Given the description of an element on the screen output the (x, y) to click on. 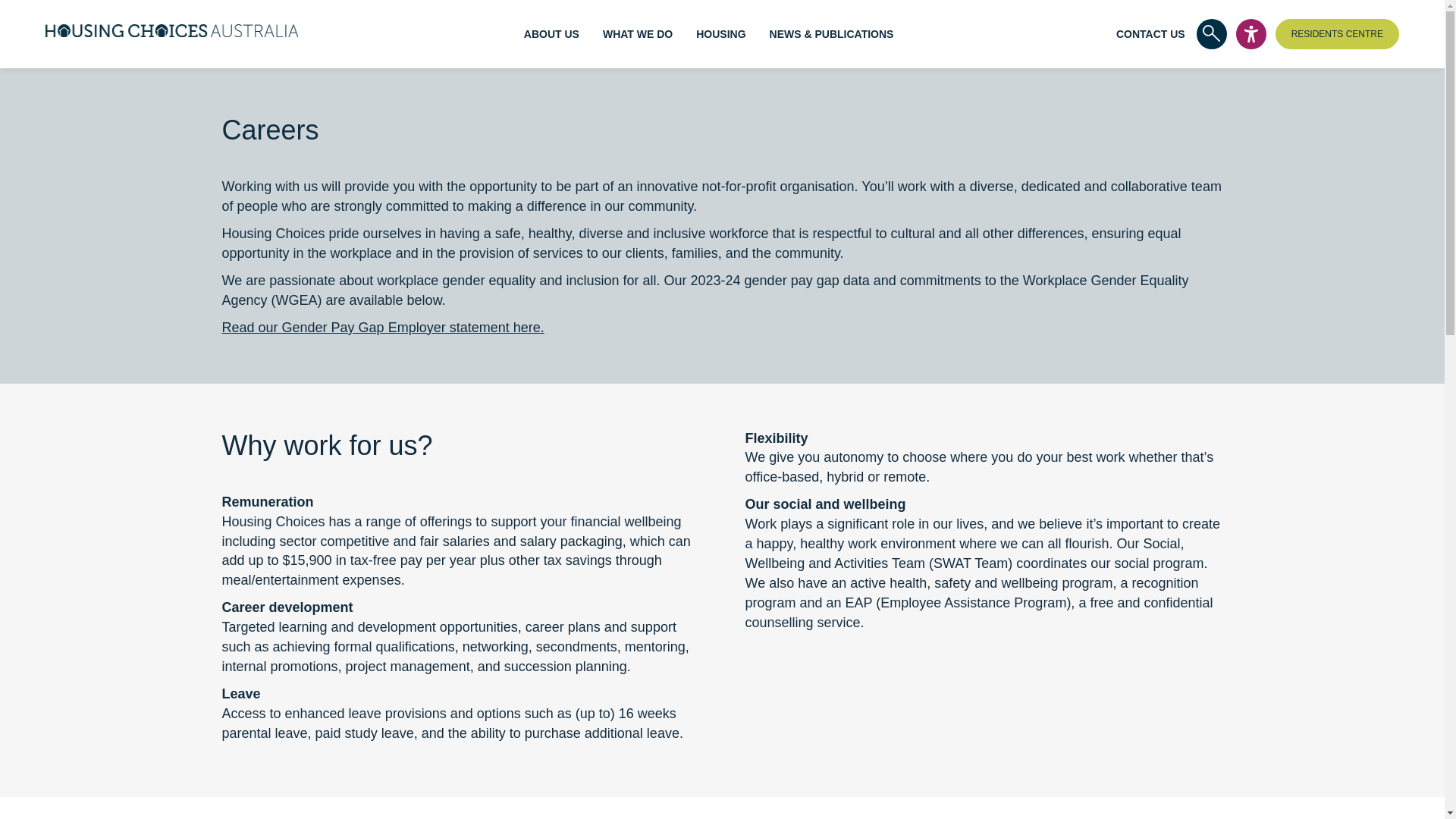
Read our Gender Pay Gap Employer statement here. (382, 327)
CONTACT US (1150, 33)
HOUSING (720, 33)
WHAT WE DO (637, 33)
RESIDENTS CENTRE (1337, 33)
ABOUT US (551, 33)
